Given the description of an element on the screen output the (x, y) to click on. 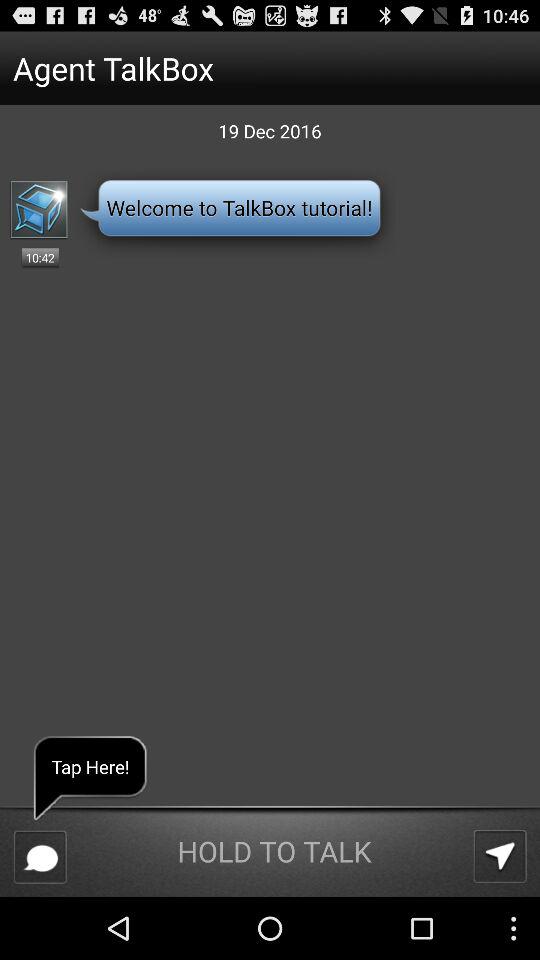
swipe to the agent talkbox (233, 68)
